Given the description of an element on the screen output the (x, y) to click on. 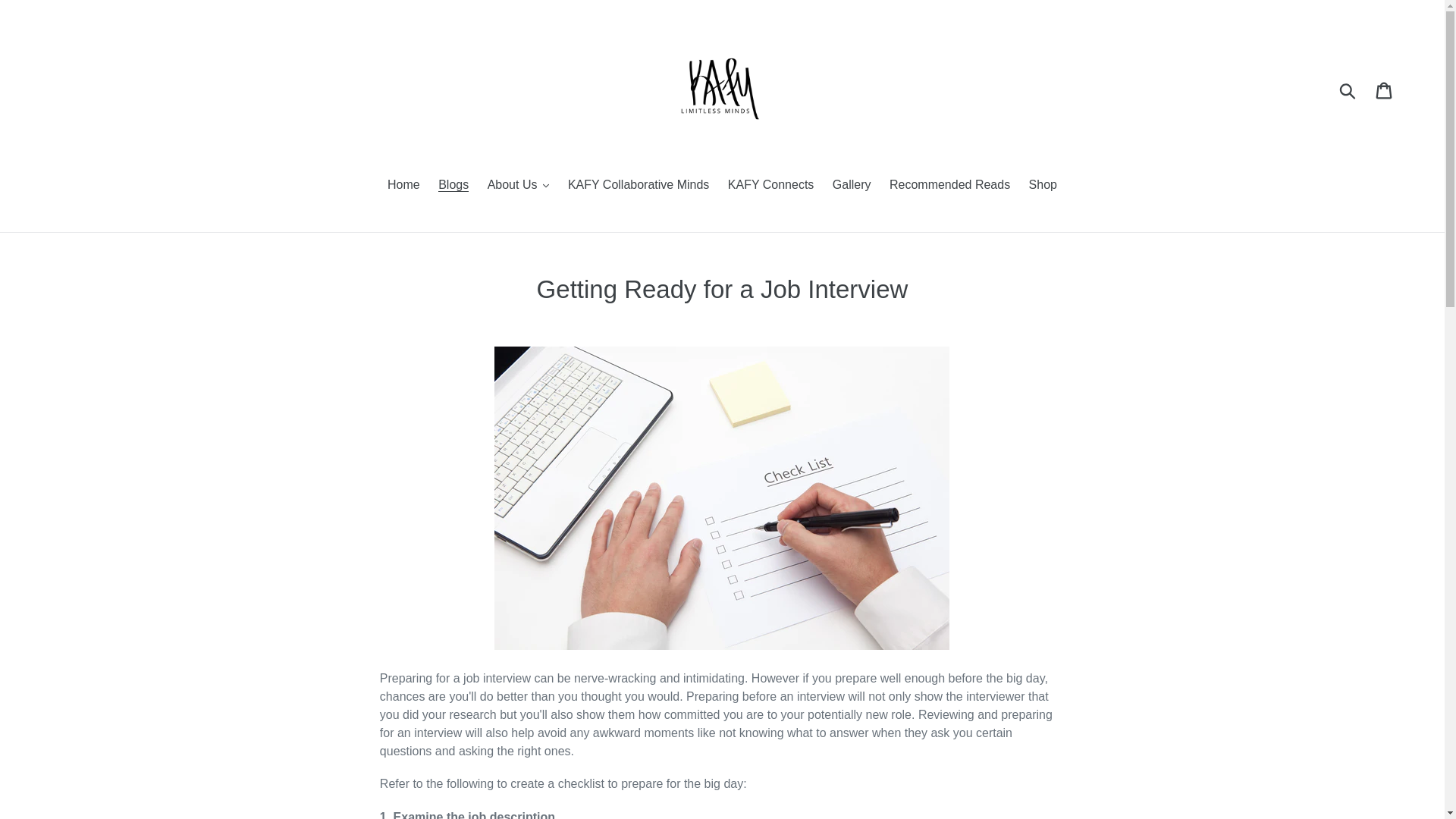
Gallery (852, 186)
KAFY Collaborative Minds (638, 186)
Cart (1385, 89)
Submit (1348, 89)
Recommended Reads (949, 186)
Shop (1043, 186)
KAFY Connects (771, 186)
Home (404, 186)
Blogs (453, 186)
